Given the description of an element on the screen output the (x, y) to click on. 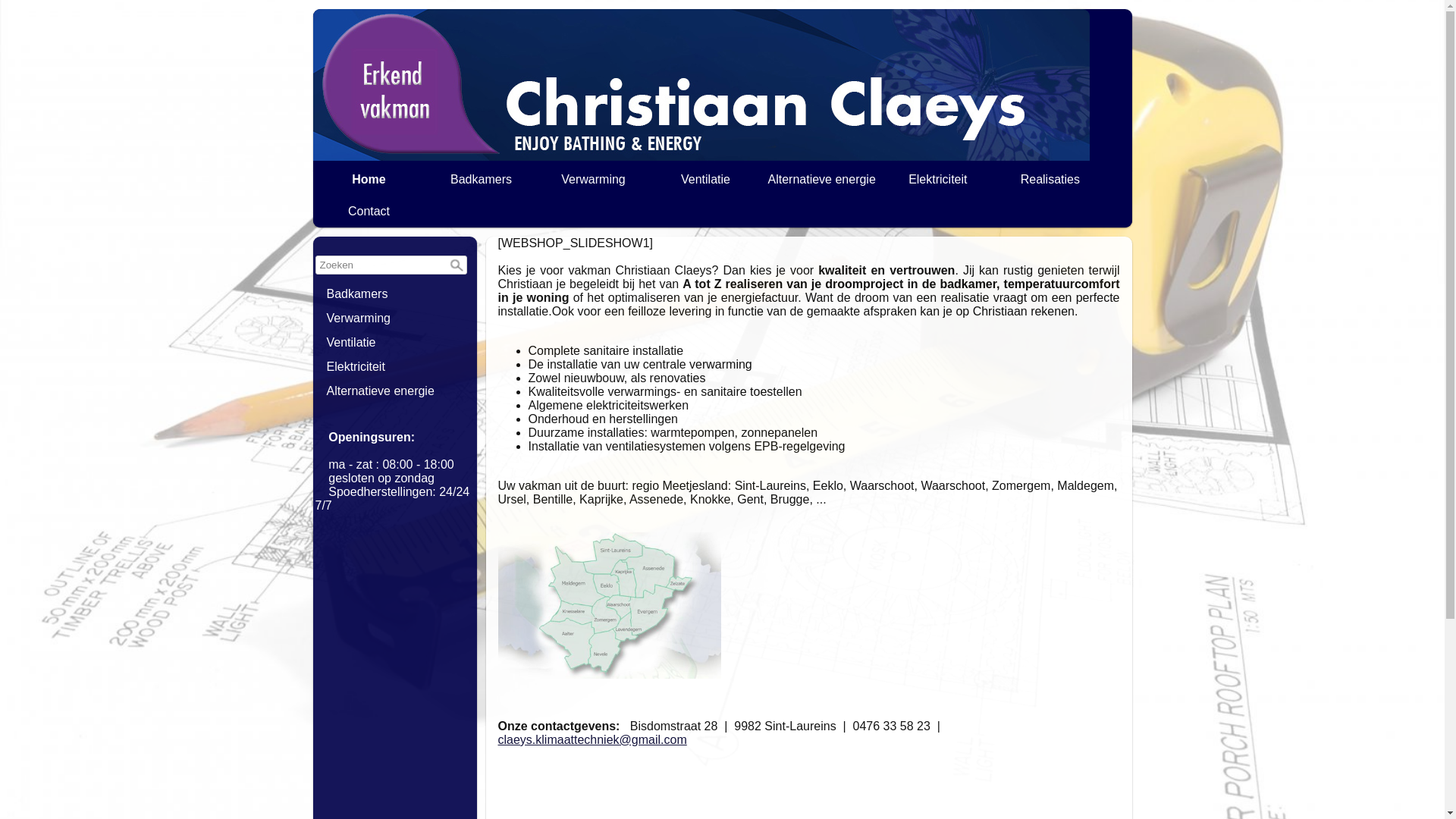
Verwarming Element type: text (593, 179)
Badkamers Element type: text (394, 294)
Elektriciteit Element type: text (937, 179)
Verwarming Element type: text (394, 318)
Realisaties Element type: text (1049, 179)
claeys.klimaattechniek@gmail.com Element type: text (591, 739)
Badkamers Element type: text (481, 179)
Home Element type: text (368, 179)
Ventilatie Element type: text (705, 179)
Elektriciteit Element type: text (394, 366)
Contact Element type: text (368, 211)
Alternatieve energie Element type: text (394, 391)
Alternatieve energie Element type: text (821, 179)
Ventilatie Element type: text (394, 342)
